Given the description of an element on the screen output the (x, y) to click on. 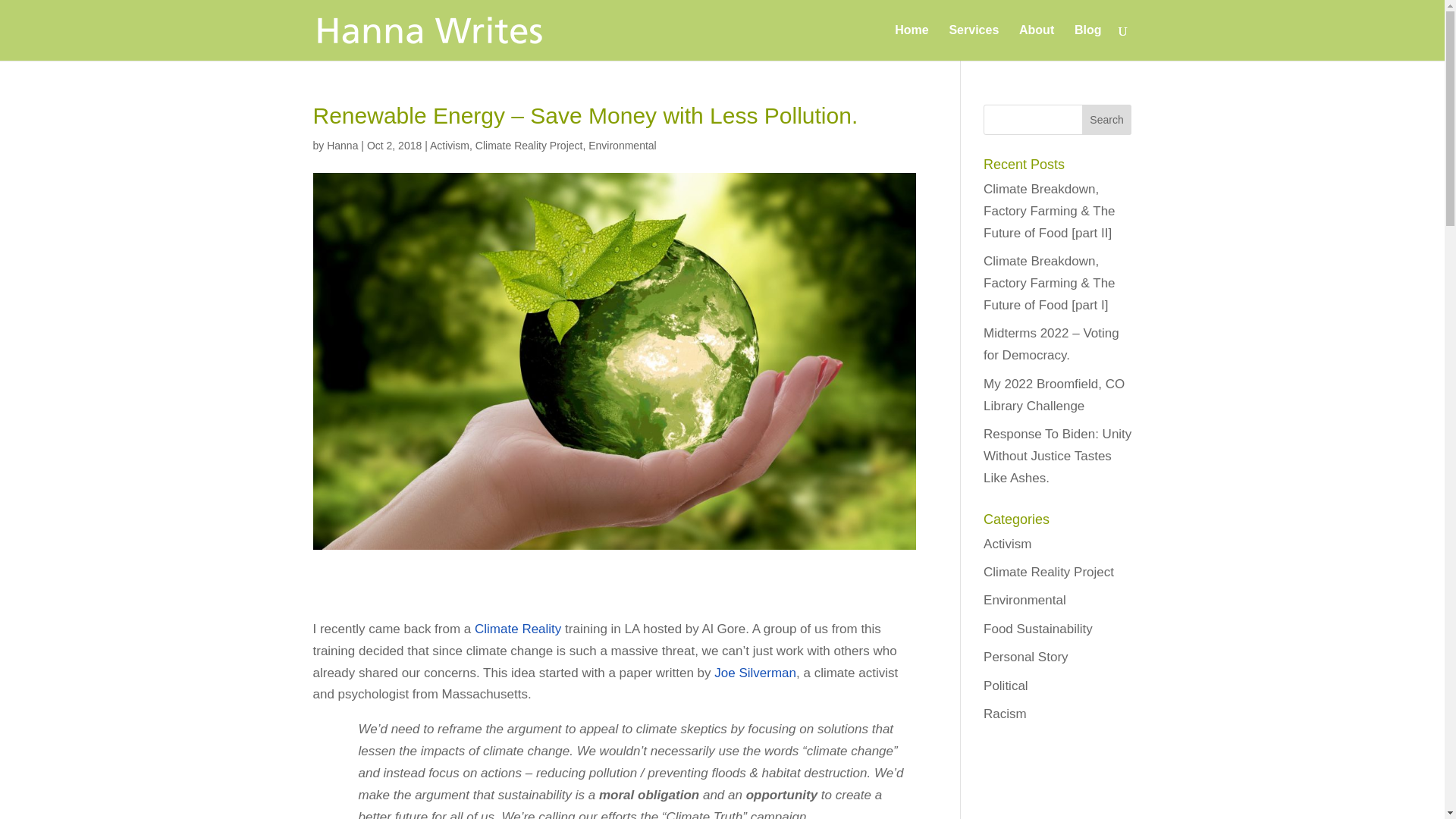
Search (1106, 119)
Food Sustainability (1038, 628)
Activism (448, 145)
Joe Silverman (755, 672)
Posts by Hanna (342, 145)
Climate Reality (515, 628)
Home (911, 42)
Services (973, 42)
Environmental (622, 145)
Search (1106, 119)
